Given the description of an element on the screen output the (x, y) to click on. 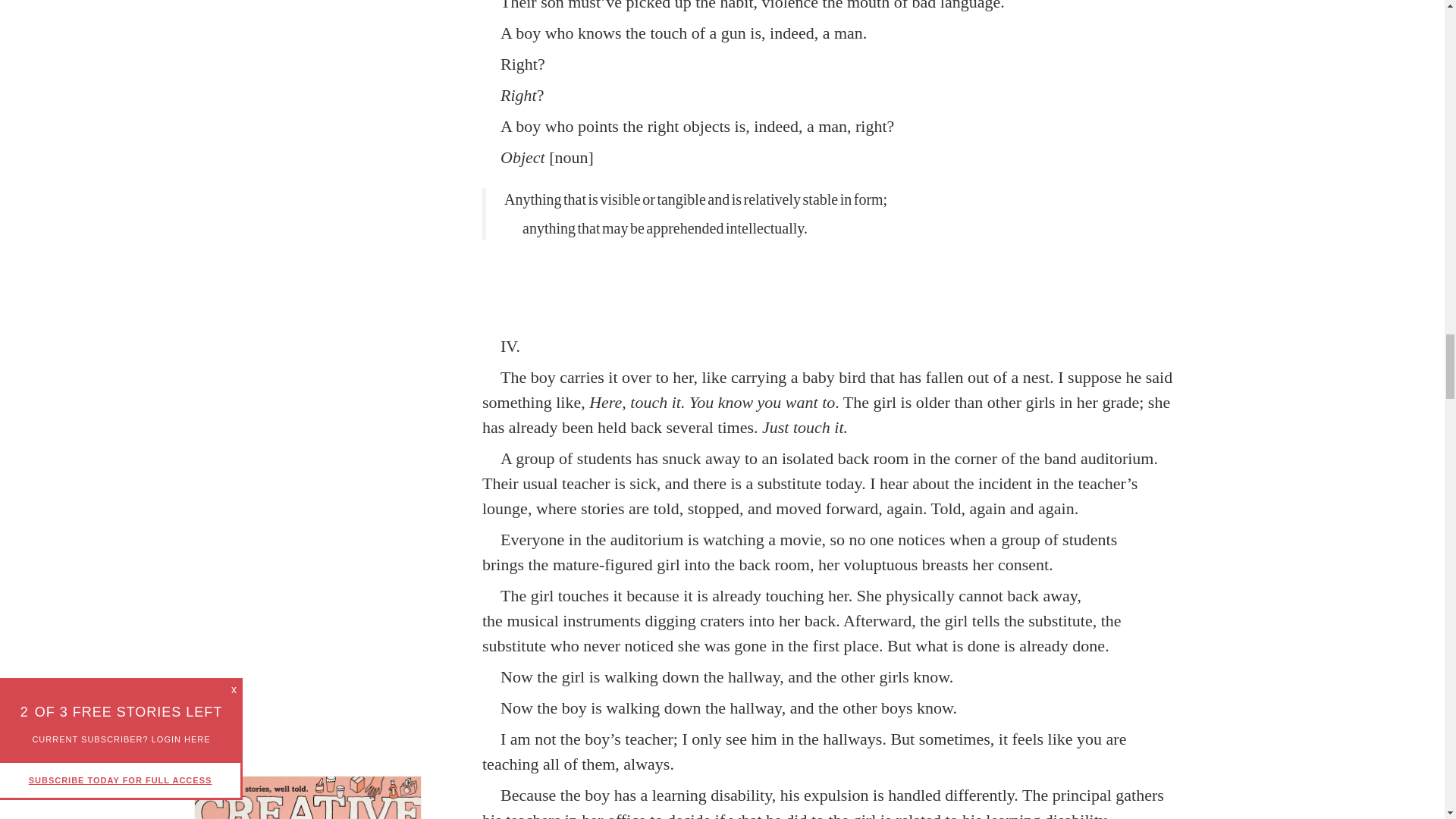
Issue 60 (307, 797)
